Given the description of an element on the screen output the (x, y) to click on. 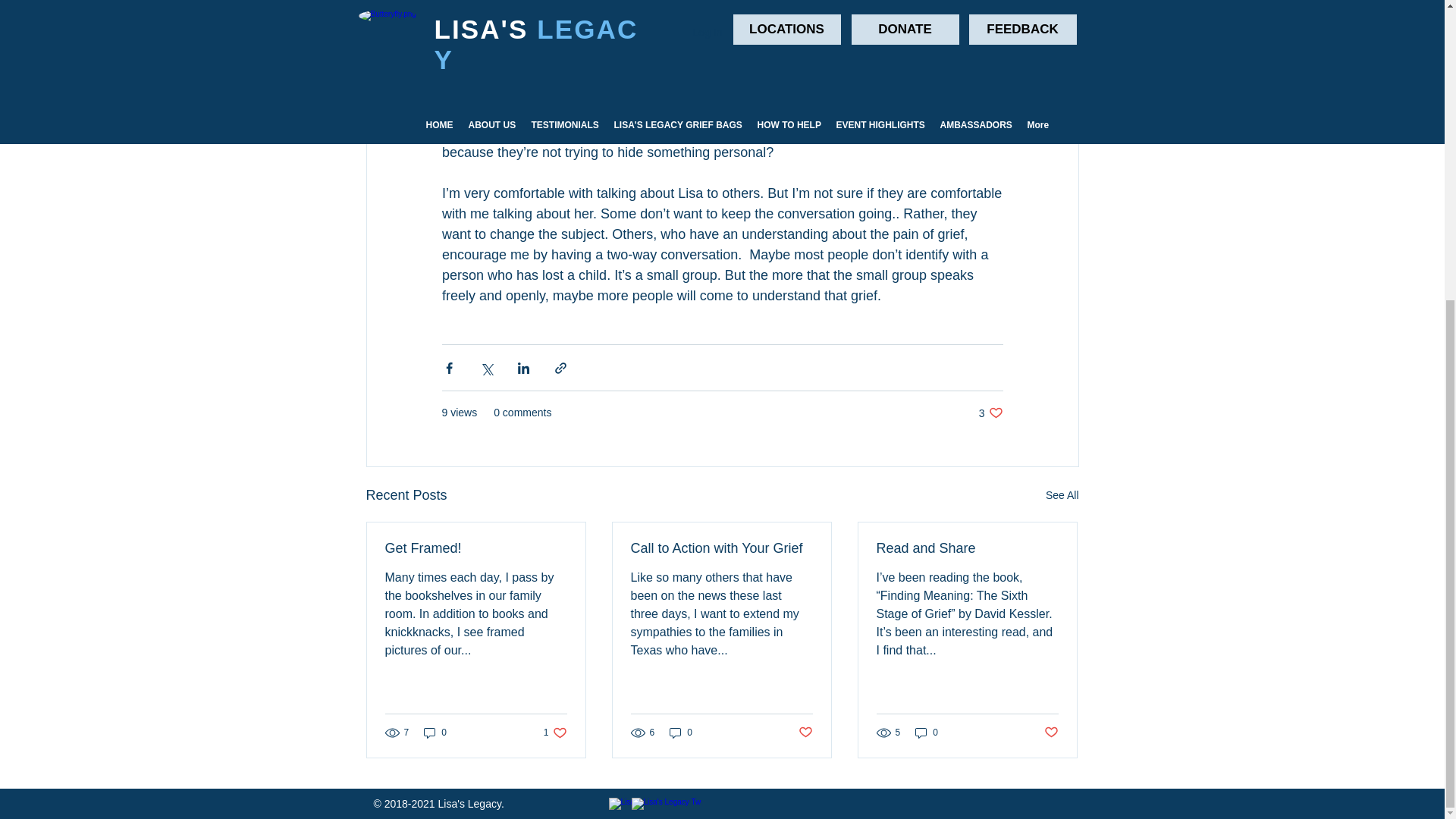
See All (1061, 495)
Get Framed! (476, 548)
